Given the description of an element on the screen output the (x, y) to click on. 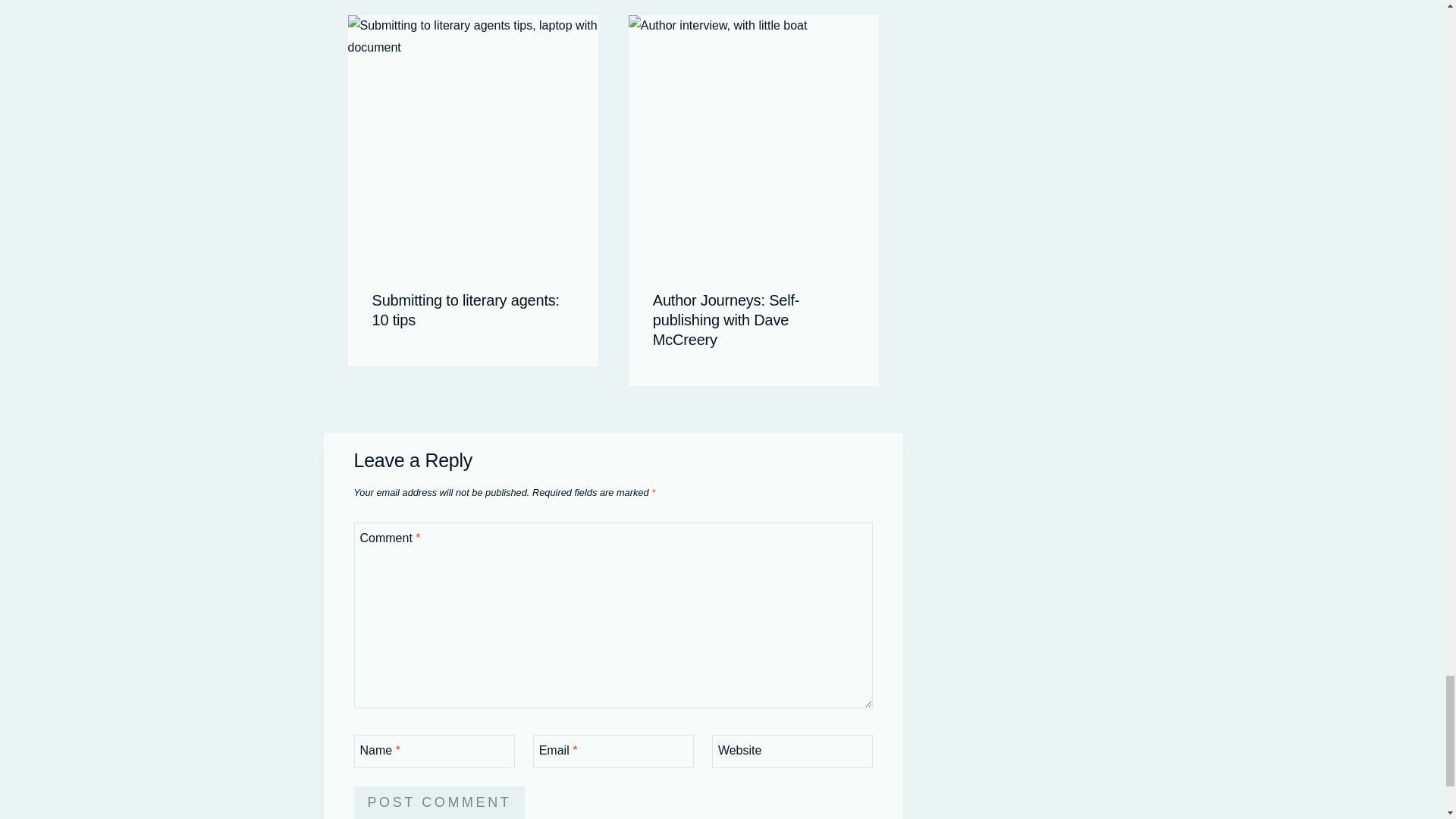
Post Comment (438, 802)
